Given the description of an element on the screen output the (x, y) to click on. 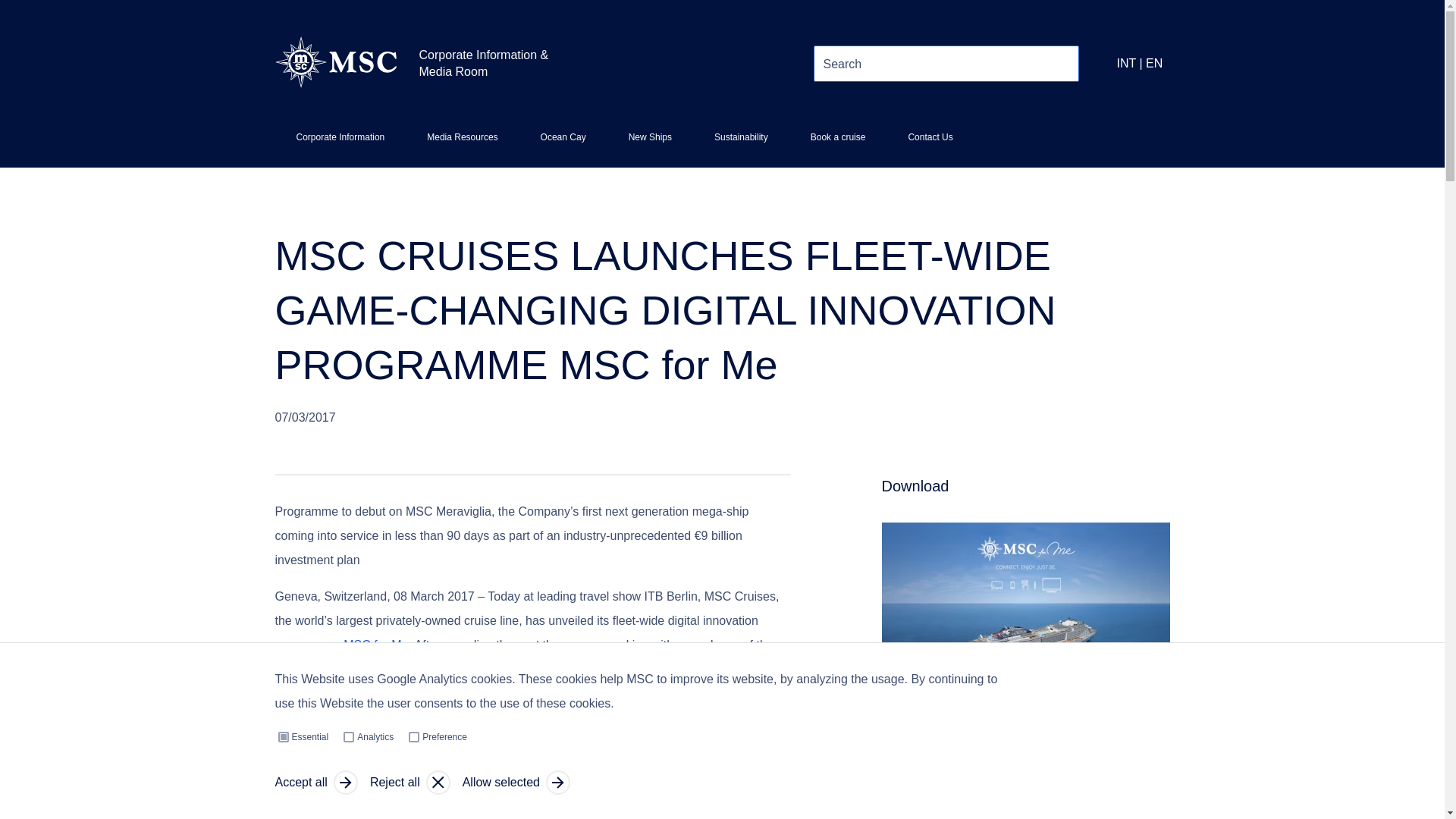
Corporate Information (340, 142)
on (283, 737)
New Ships (650, 142)
MSC for Me (1024, 705)
Reject all (375, 644)
on (409, 782)
Media Resources (414, 737)
Sustainability (462, 142)
Accept all (741, 142)
